Given the description of an element on the screen output the (x, y) to click on. 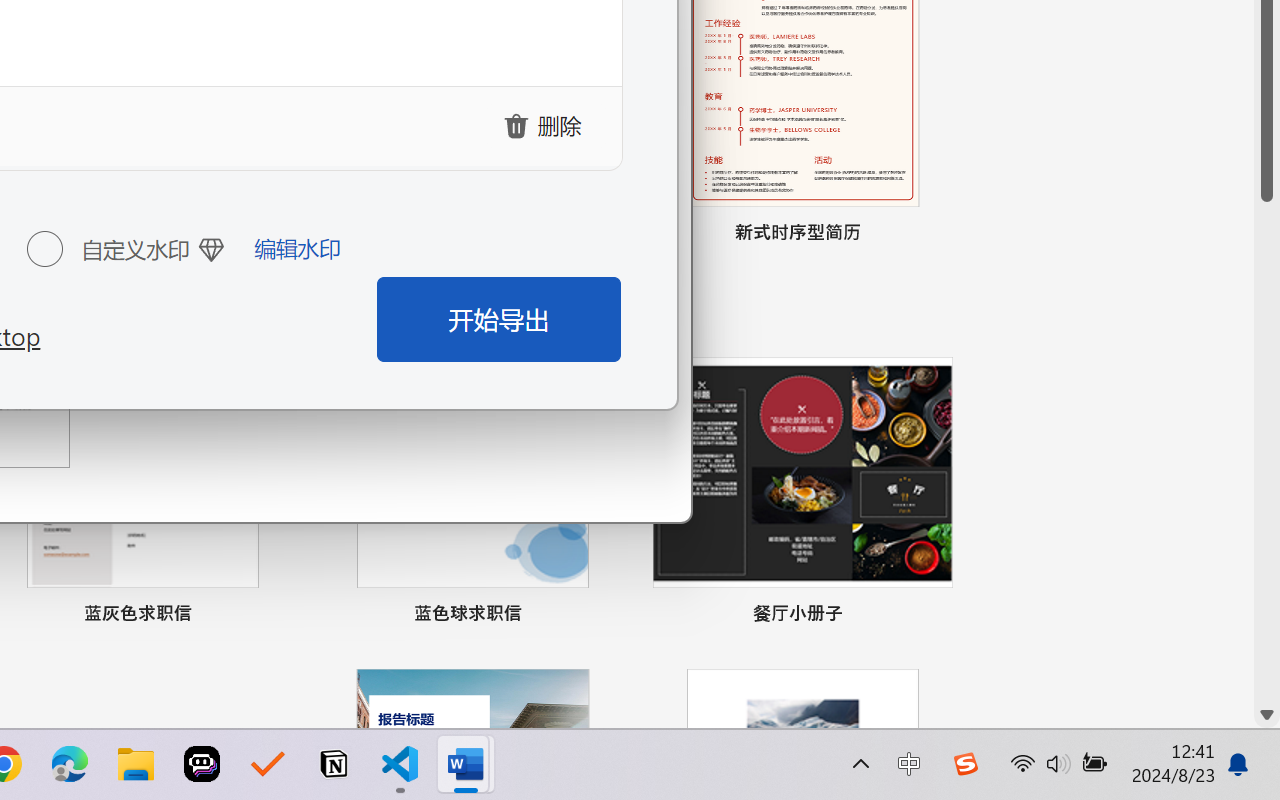
Microsoft Edge (69, 764)
Pin to list (934, 616)
